Given the description of an element on the screen output the (x, y) to click on. 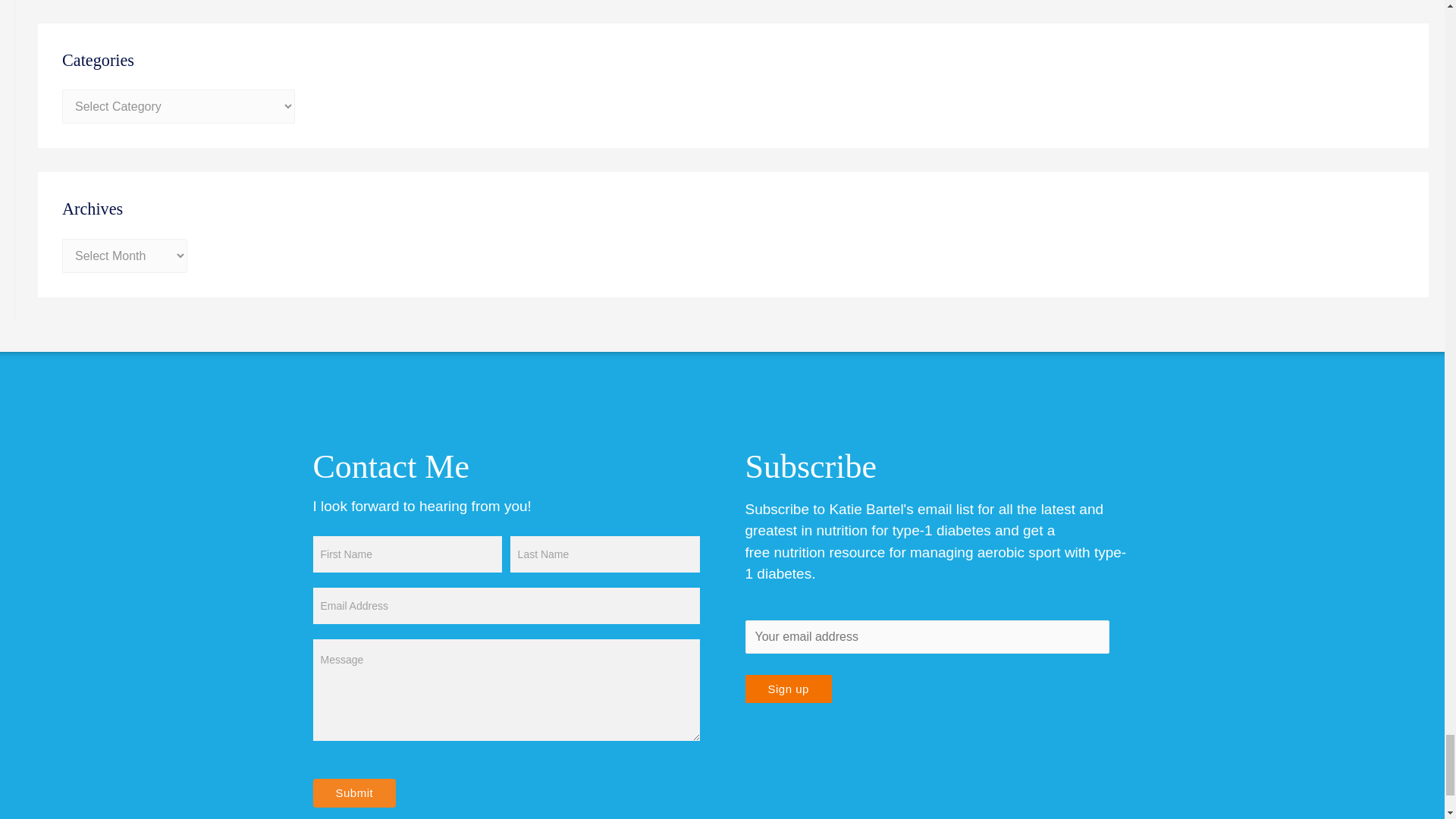
Sign up (787, 688)
